Given the description of an element on the screen output the (x, y) to click on. 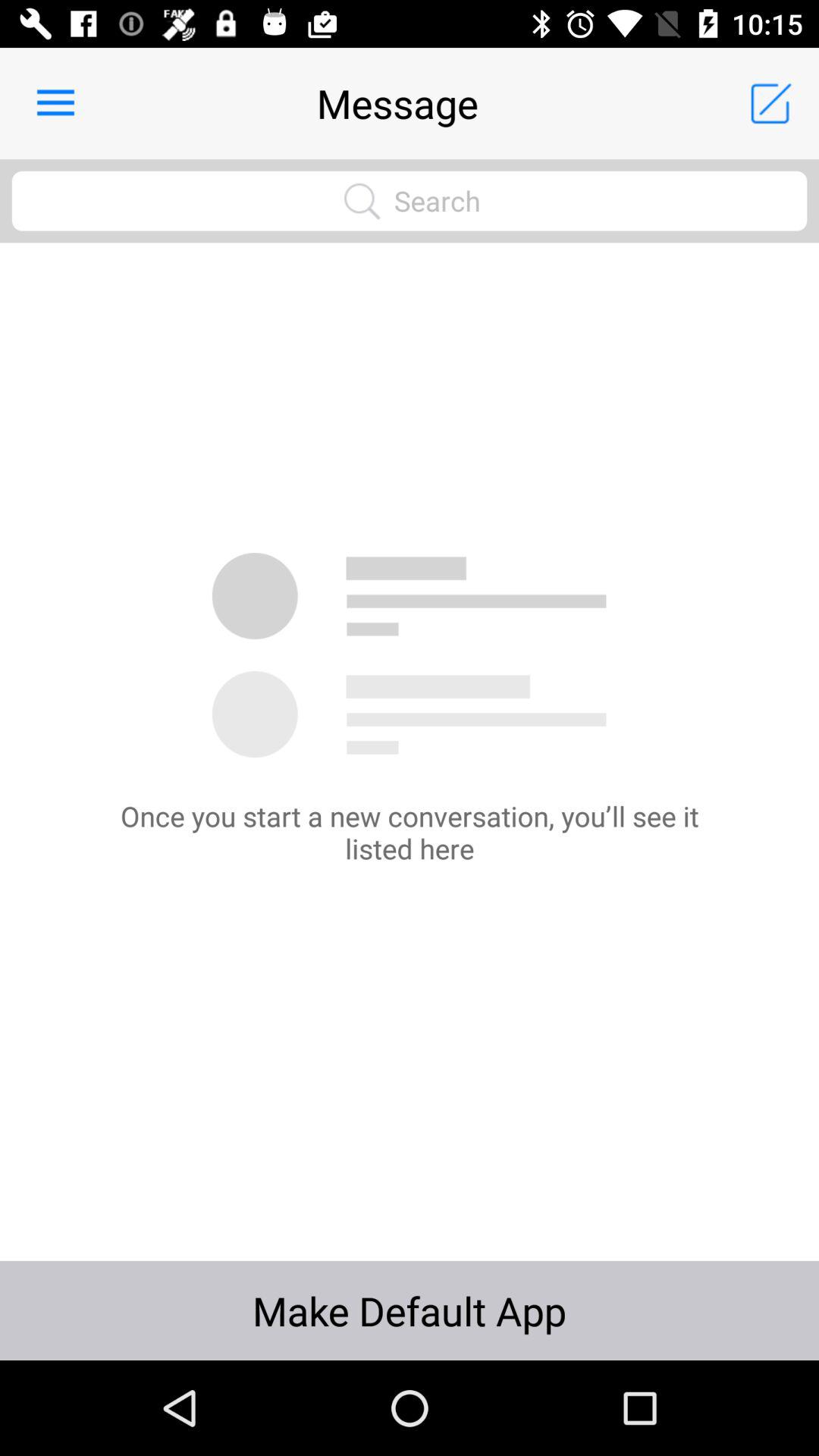
open icon at the top left corner (55, 103)
